Given the description of an element on the screen output the (x, y) to click on. 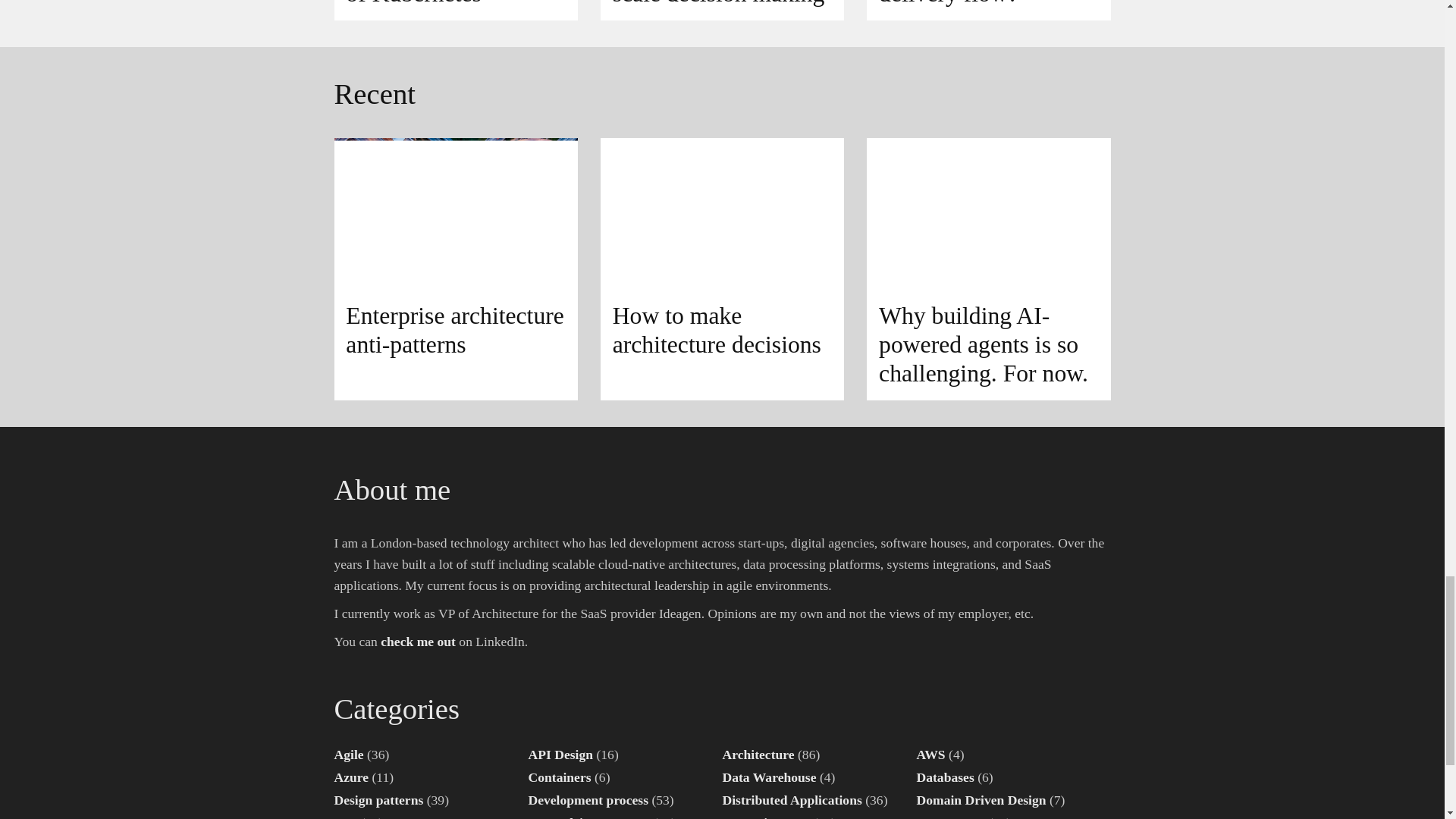
API Design (559, 754)
Data Warehouse (768, 776)
How can architecture improve agility and delivery flow? (987, 10)
Event-driven systems (588, 816)
How to make architecture decisions (721, 269)
Distributed Applications (791, 799)
Enterprise architecture anti-patterns (454, 269)
AWS (929, 754)
Domain Driven Design (980, 799)
Why building AI-powered agents is so challenging. For now. (987, 269)
.Net (344, 816)
Containers (559, 776)
check me out (417, 641)
Architecture (757, 754)
Design patterns (378, 799)
